Given the description of an element on the screen output the (x, y) to click on. 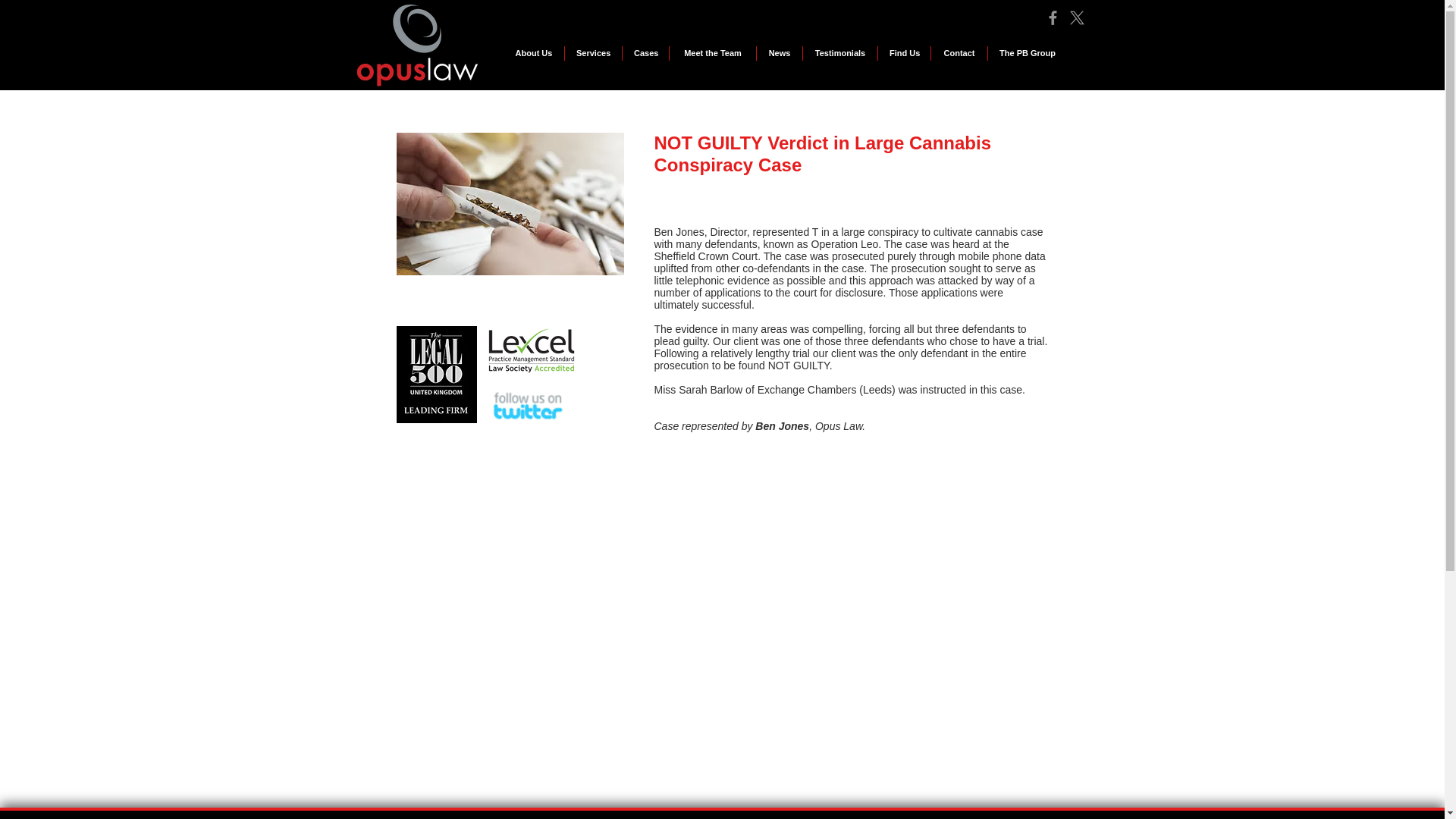
The PB Group (1027, 52)
Testimonials (840, 52)
Contact (959, 52)
Services (592, 52)
Meet the Team (712, 52)
About Us (533, 52)
